Given the description of an element on the screen output the (x, y) to click on. 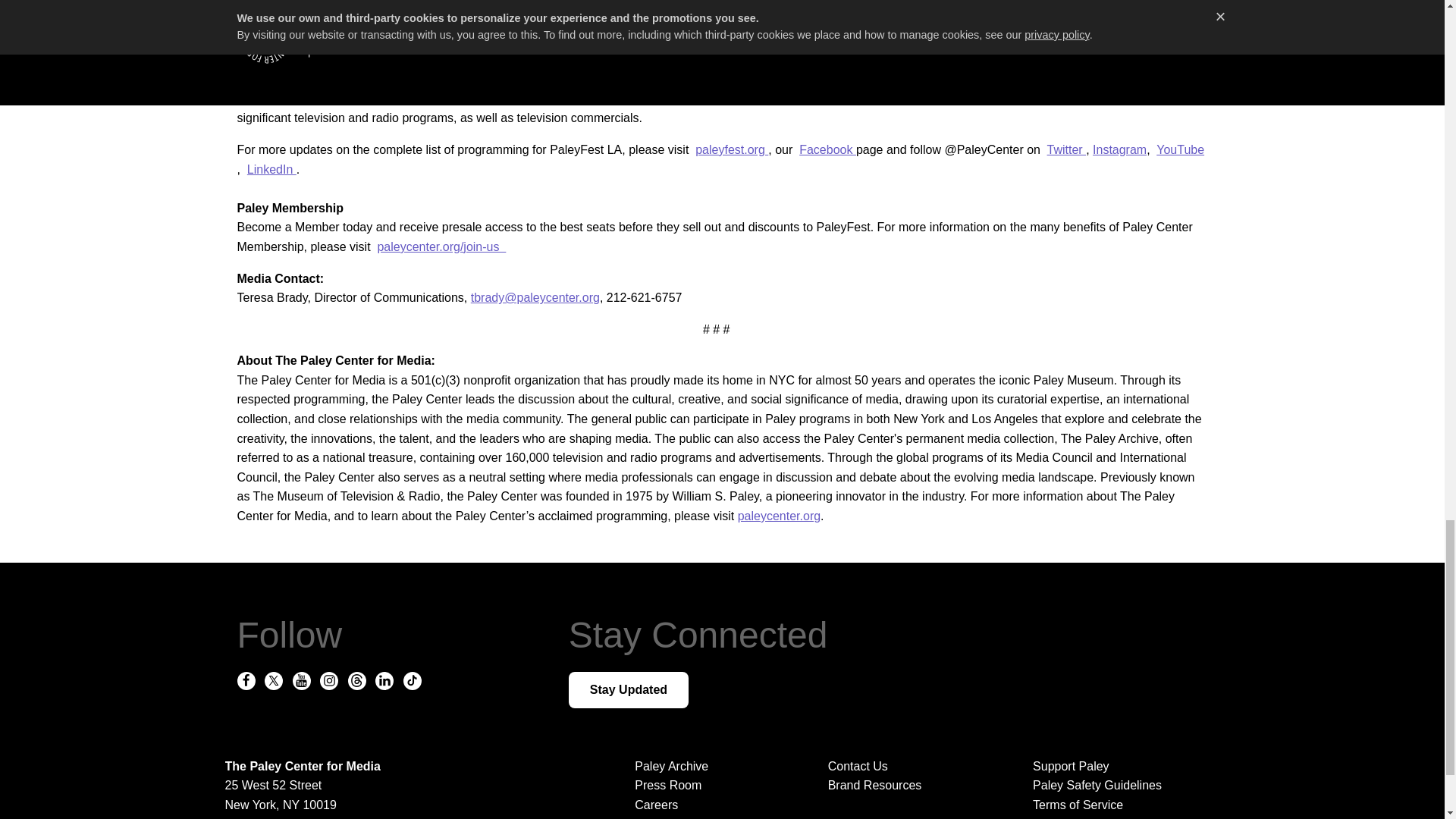
Twitter (1066, 149)
LinkedIn (272, 169)
Stay Updated (628, 689)
paleycenter.org (779, 515)
Paley Archive (670, 766)
Sitemap (1119, 816)
paleyfest.org (731, 149)
Paley Safety Guidelines (1119, 785)
Paley Center's YouTube channel (1071, 28)
Contact Us (858, 766)
Brand Resources (874, 784)
Press Room (667, 784)
Instagram (1120, 149)
Careers (656, 804)
YouTube (1180, 149)
